Given the description of an element on the screen output the (x, y) to click on. 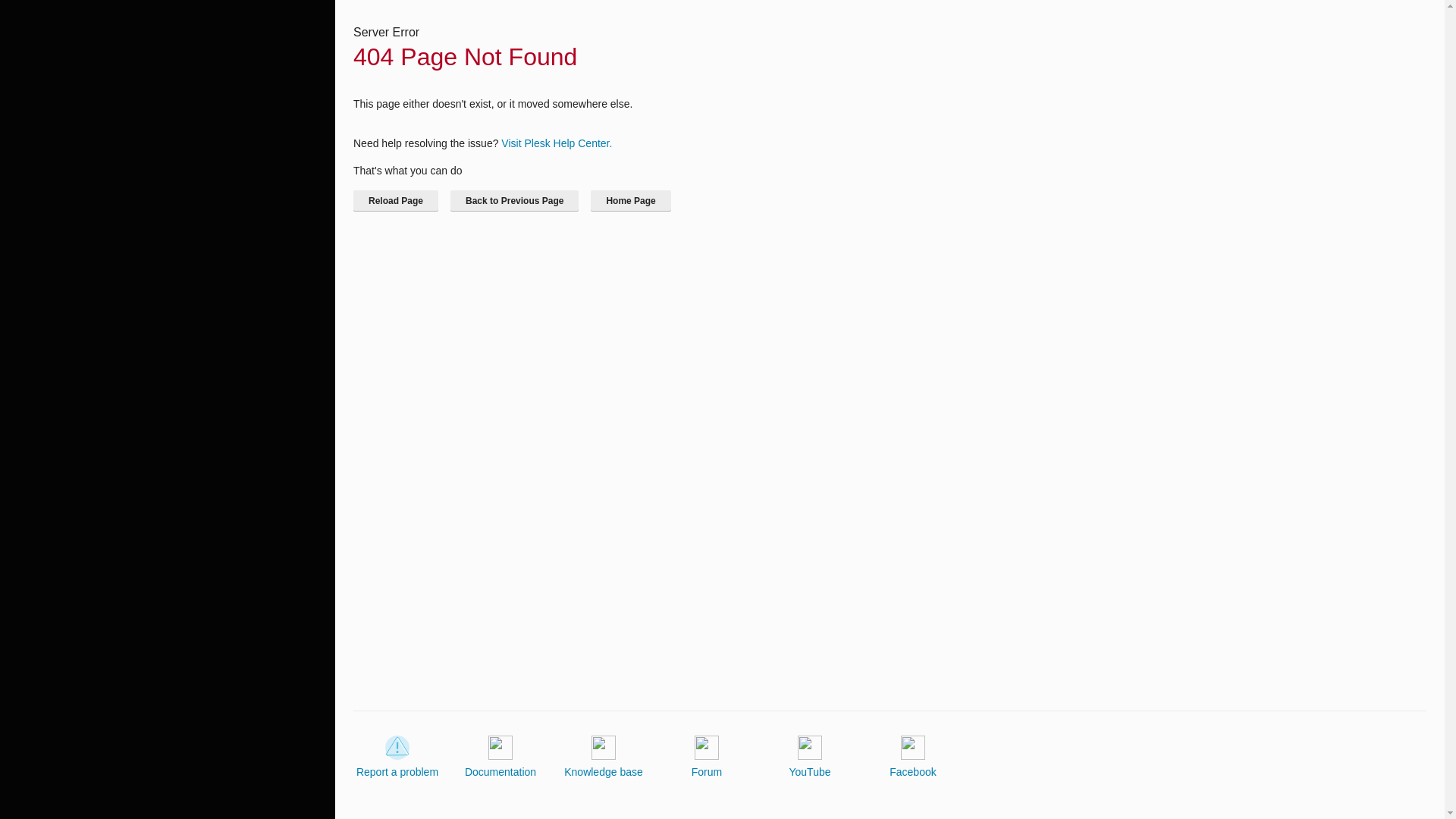
Documentation (500, 757)
Home Page (630, 200)
Forum (706, 757)
Back to Previous Page (513, 200)
Facebook (912, 757)
YouTube (809, 757)
Report a problem (397, 757)
Knowledge base (603, 757)
Reload Page (395, 200)
Visit Plesk Help Center. (555, 143)
